Given the description of an element on the screen output the (x, y) to click on. 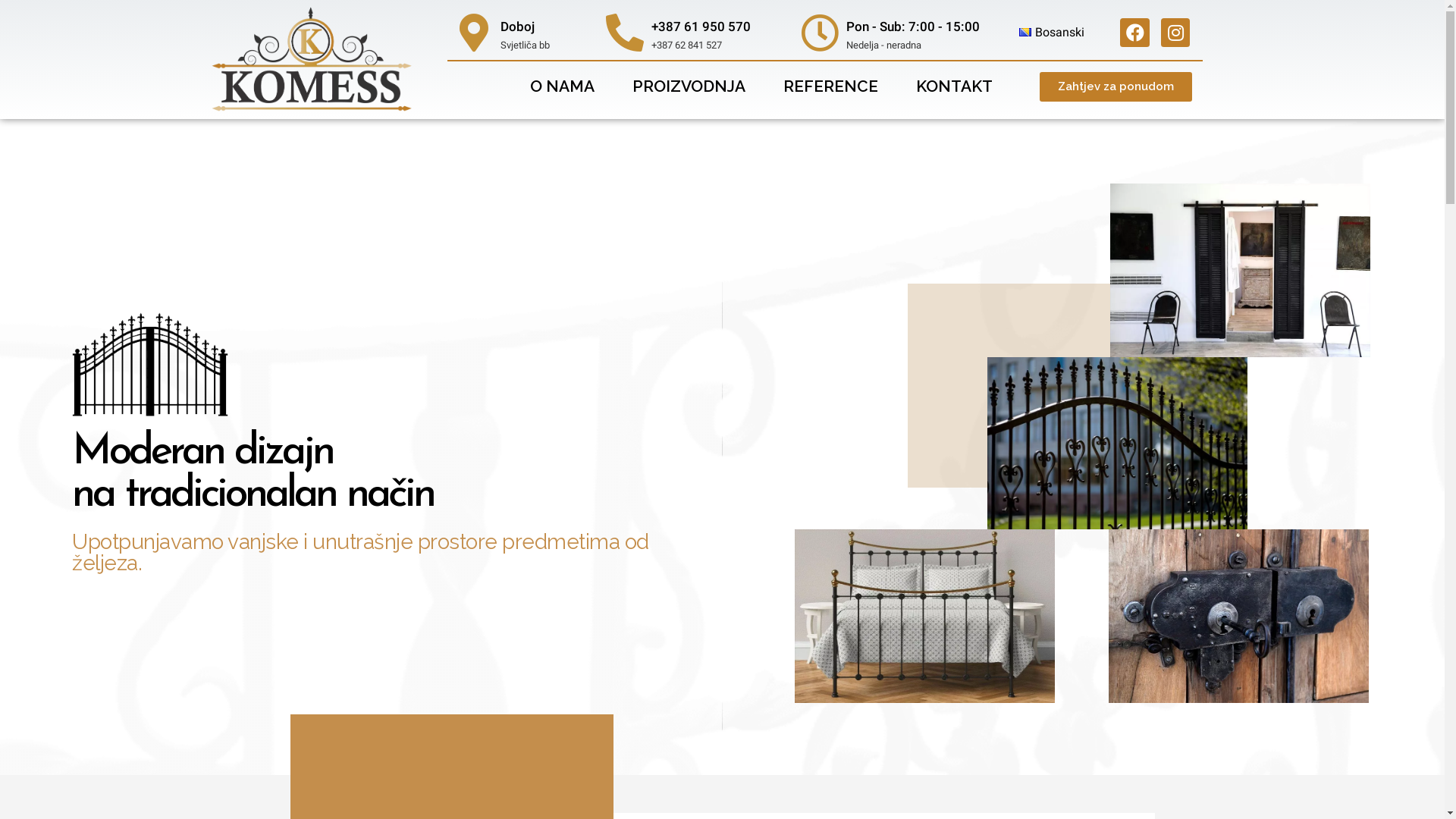
Bosanski Element type: text (1050, 32)
O NAMA Element type: text (562, 86)
KONTAKT Element type: text (954, 86)
REFERENCE Element type: text (830, 86)
PROIZVODNJA Element type: text (688, 86)
Zahtjev za ponudom Element type: text (1115, 86)
